Given the description of an element on the screen output the (x, y) to click on. 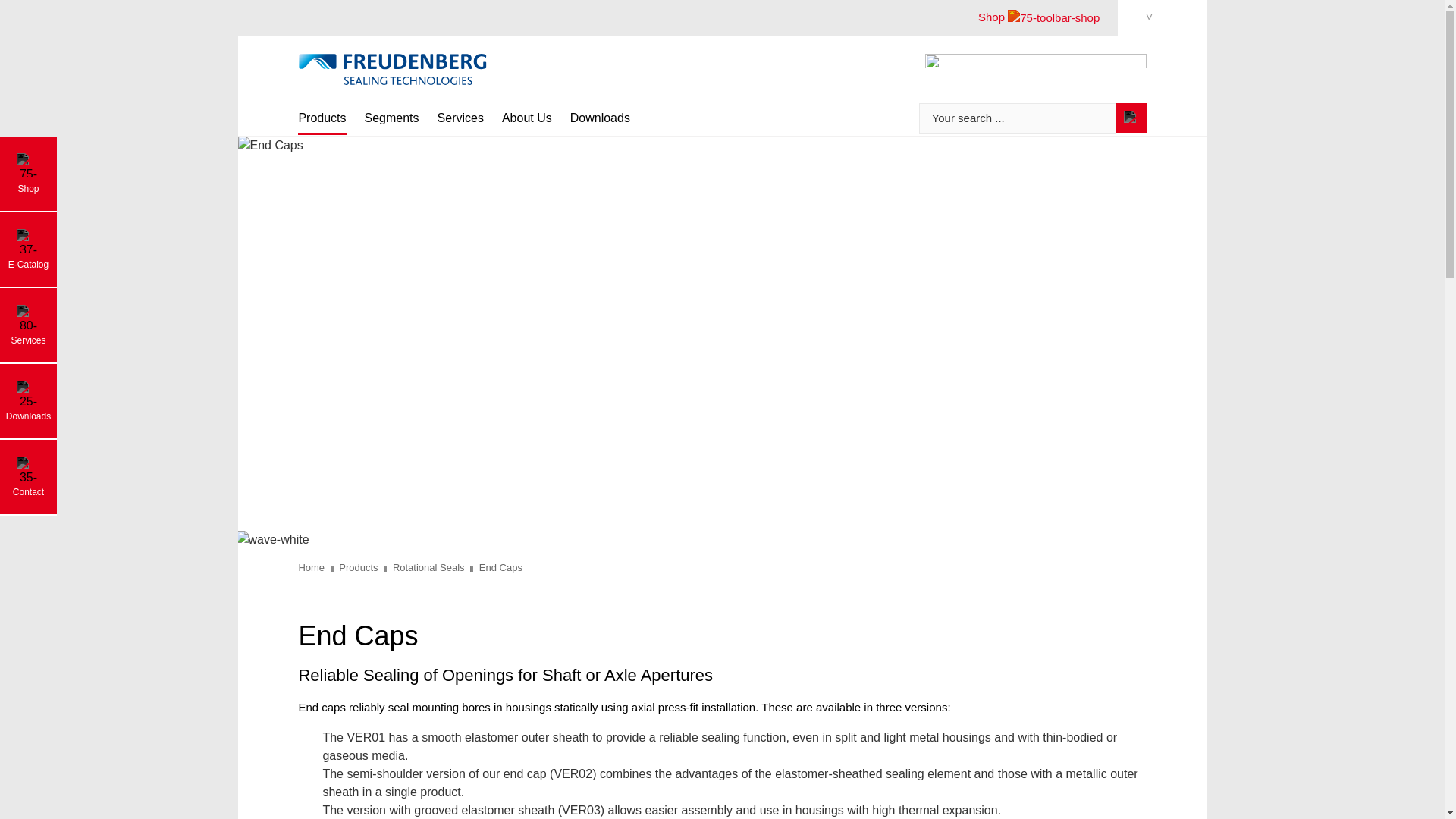
Downloads (600, 122)
Segments (392, 122)
Products (322, 123)
Services (460, 122)
Shop (1038, 21)
About Us (526, 122)
